Given the description of an element on the screen output the (x, y) to click on. 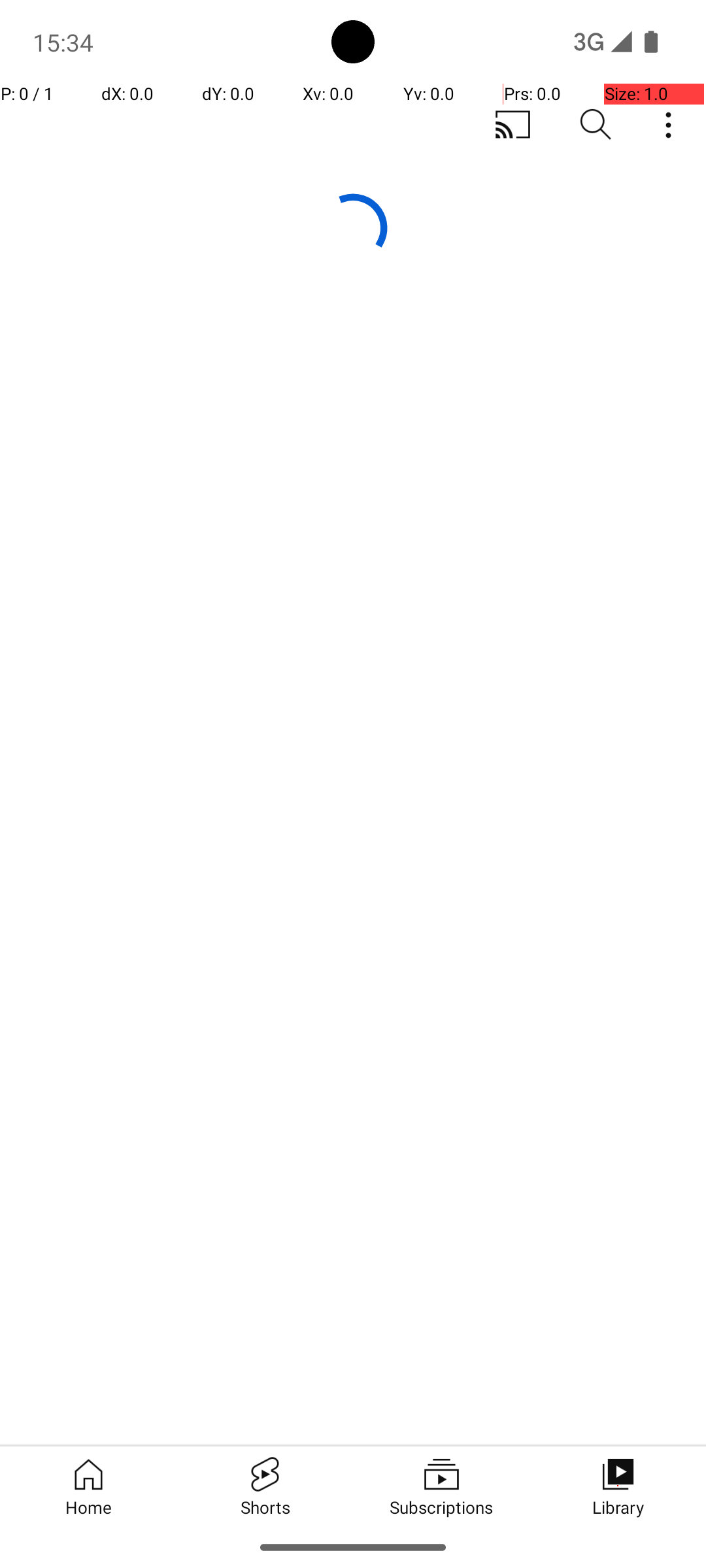
Cast. Disconnected Element type: android.view.View (512, 124)
